Given the description of an element on the screen output the (x, y) to click on. 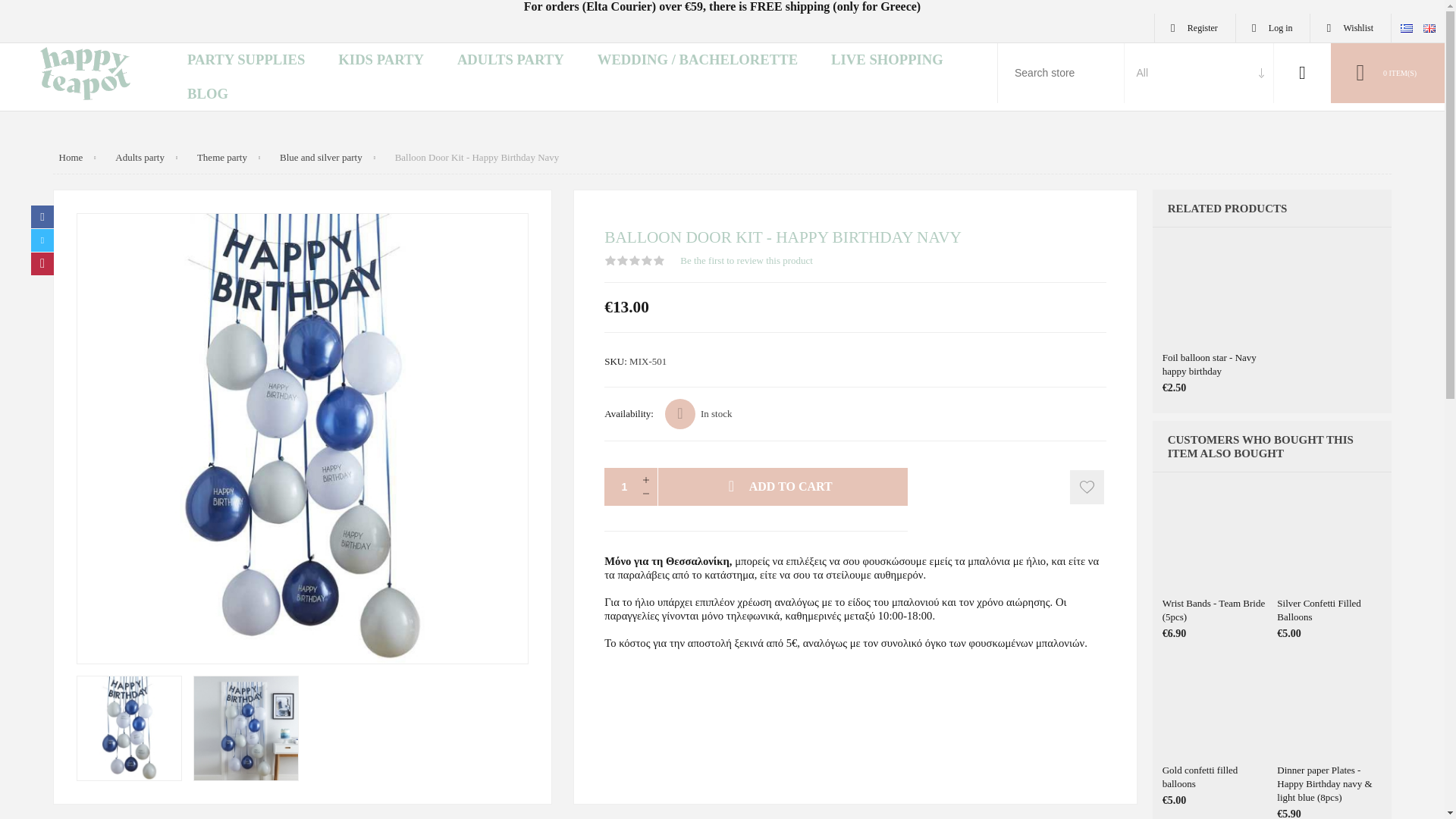
Greek (1406, 28)
English (1429, 28)
Register (1194, 27)
PARTY SUPPLIES (245, 59)
Log in (1273, 27)
Wishlist (1350, 27)
